Given the description of an element on the screen output the (x, y) to click on. 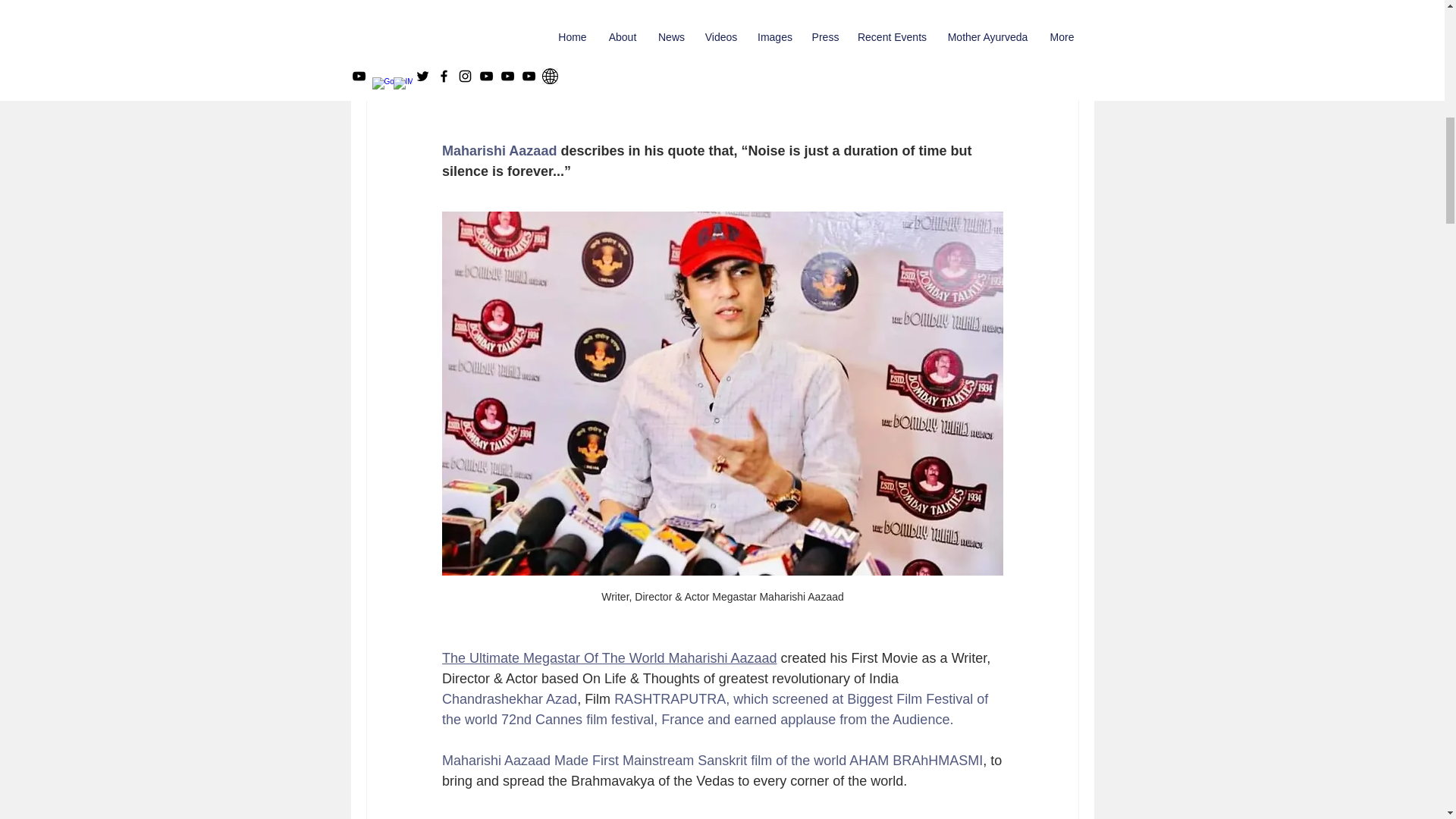
Maharishi Aazaad (498, 150)
Chandrashekhar Azad (508, 698)
The Ultimate Megastar Of The World Maharishi Aazaad (608, 657)
